Given the description of an element on the screen output the (x, y) to click on. 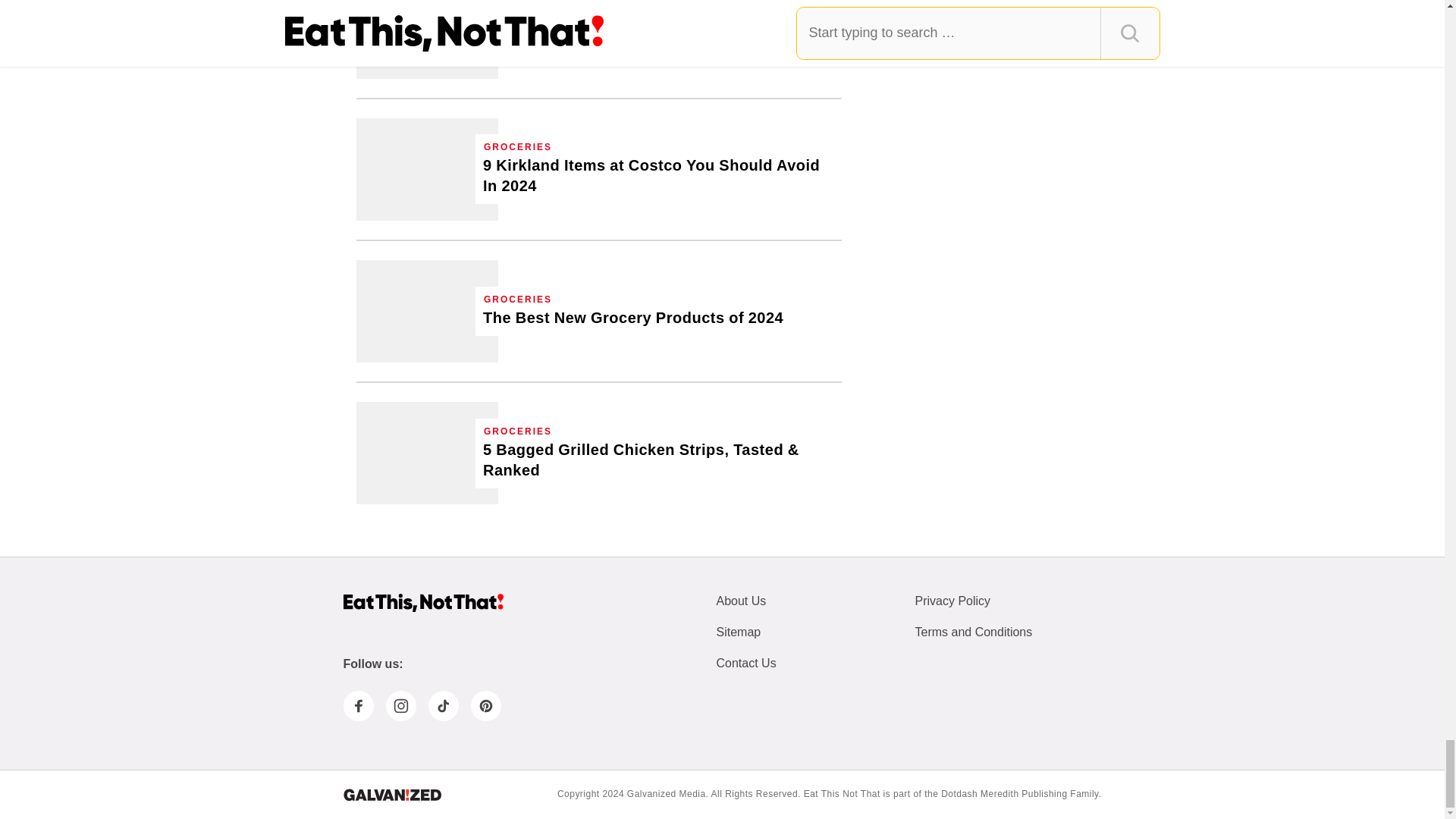
The Best New Grocery Products of 2024 (633, 317)
9 Kirkland Items at Costco You Should Avoid In 2024 (426, 168)
9 Kirkland Items at Costco You Should Avoid In 2024 (658, 175)
The Best New Grocery Products of 2024 (426, 311)
